Given the description of an element on the screen output the (x, y) to click on. 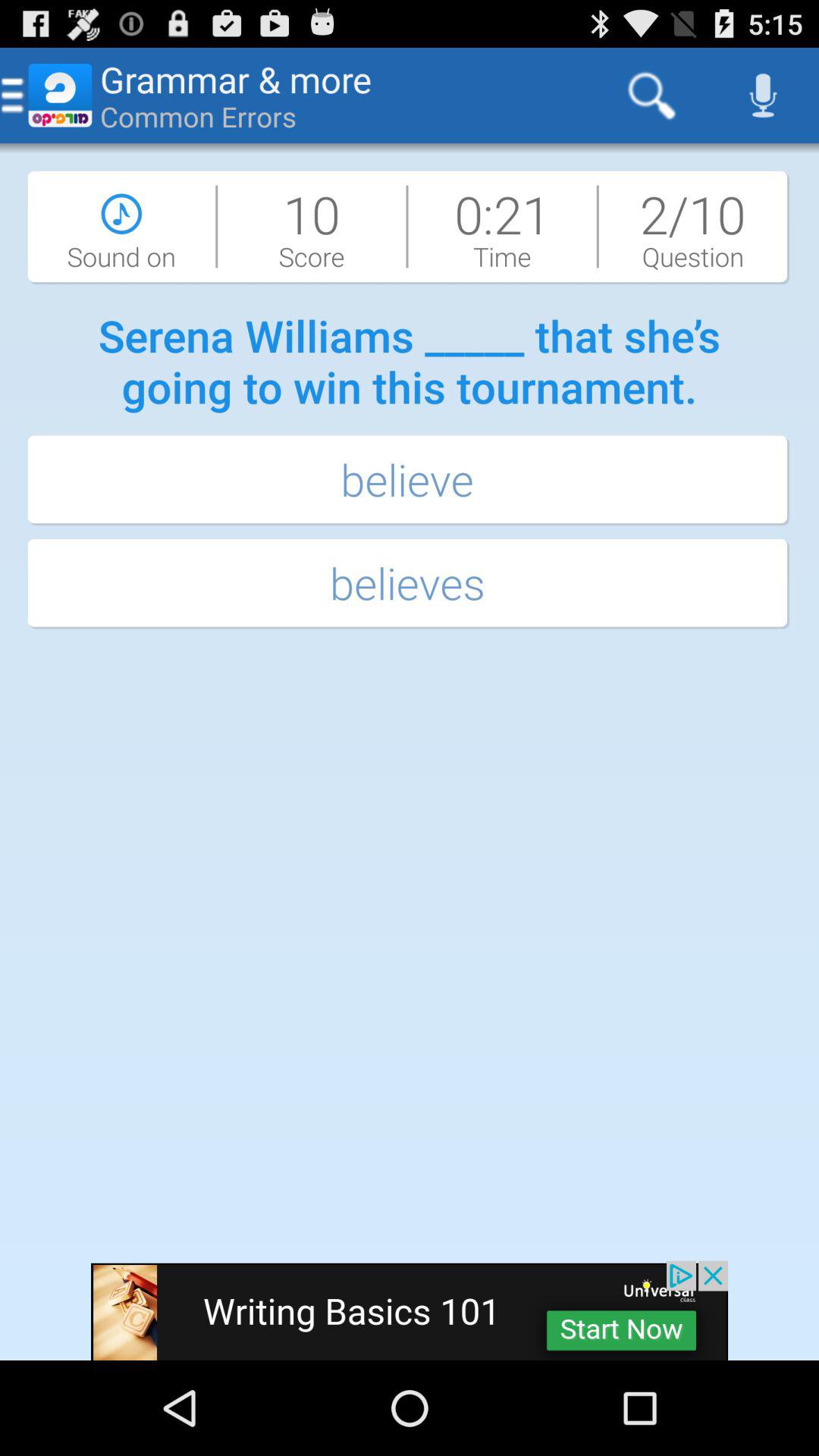
click the believes button (409, 584)
click on the speaker (763, 95)
click on the first icon which is below the common errors (121, 226)
